Given the description of an element on the screen output the (x, y) to click on. 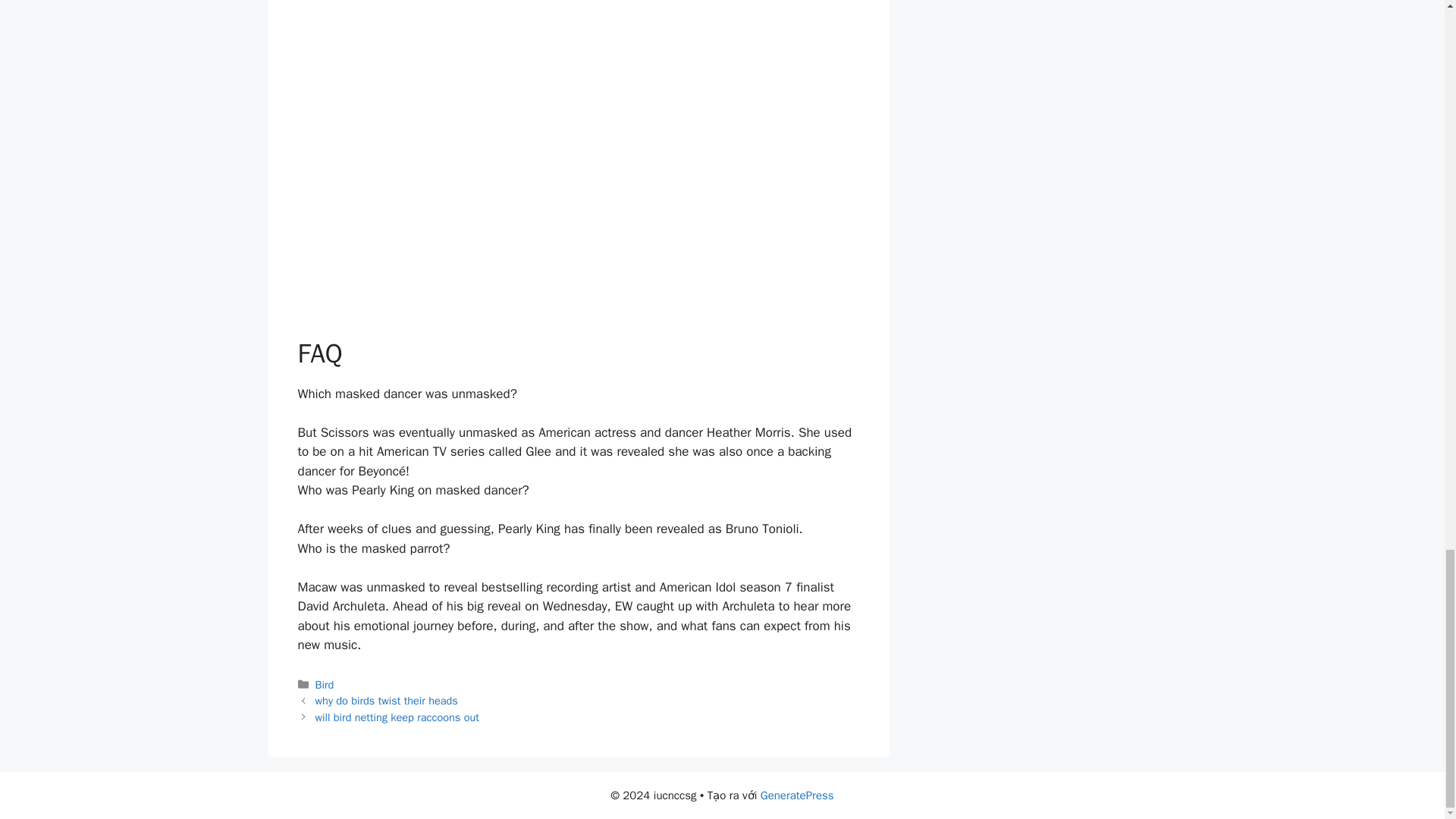
why do birds twist their heads (386, 700)
Bird (324, 684)
will bird netting keep raccoons out (397, 716)
GeneratePress (797, 795)
